Given the description of an element on the screen output the (x, y) to click on. 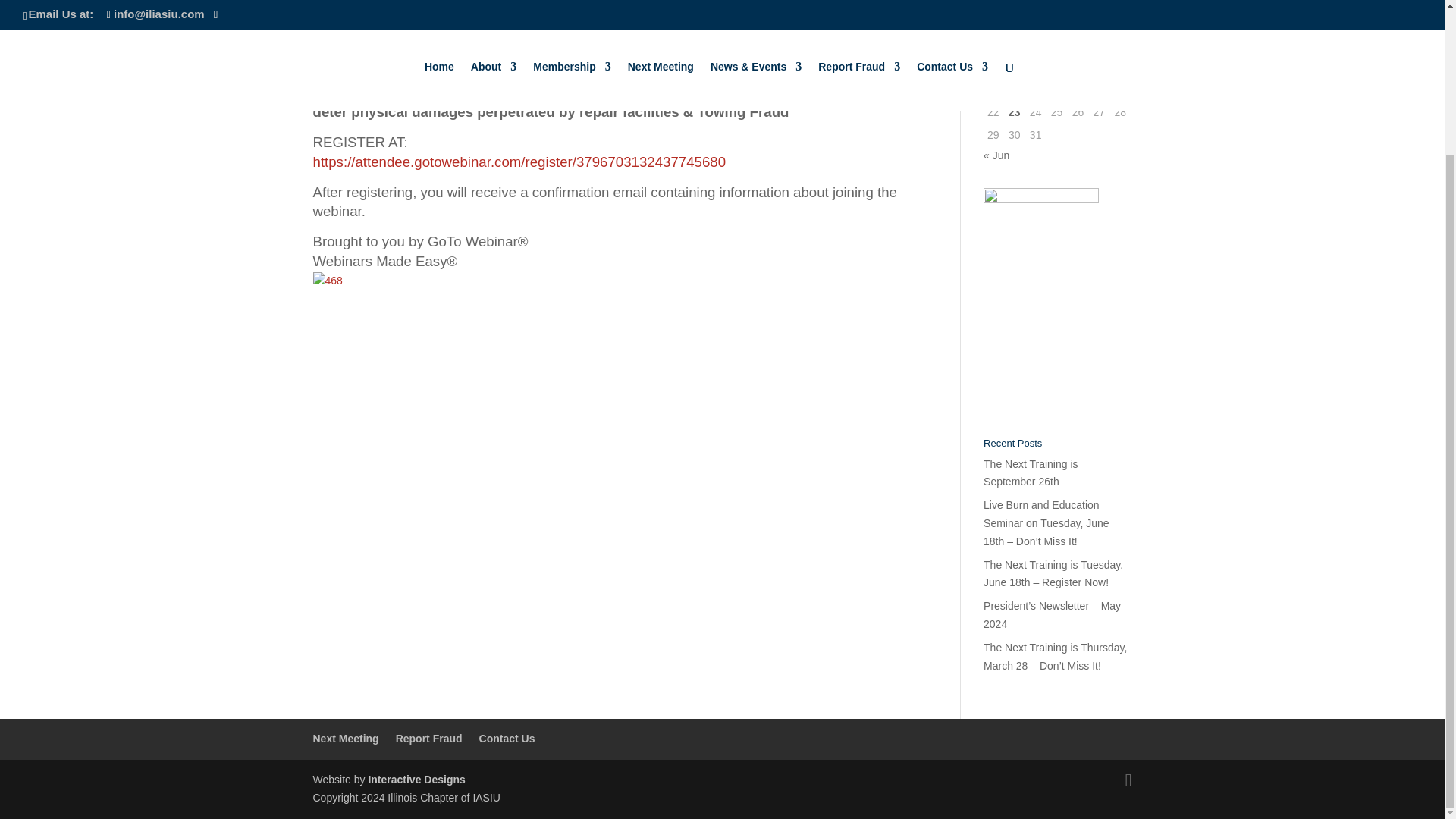
Thursday (1057, 22)
Monday (994, 22)
towingfraud1 (614, 10)
Sunday (1120, 22)
Wednesday (1036, 22)
The Next Training is September 26th (1031, 472)
Friday (1078, 22)
Tuesday (1015, 22)
Saturday (1099, 22)
